Given the description of an element on the screen output the (x, y) to click on. 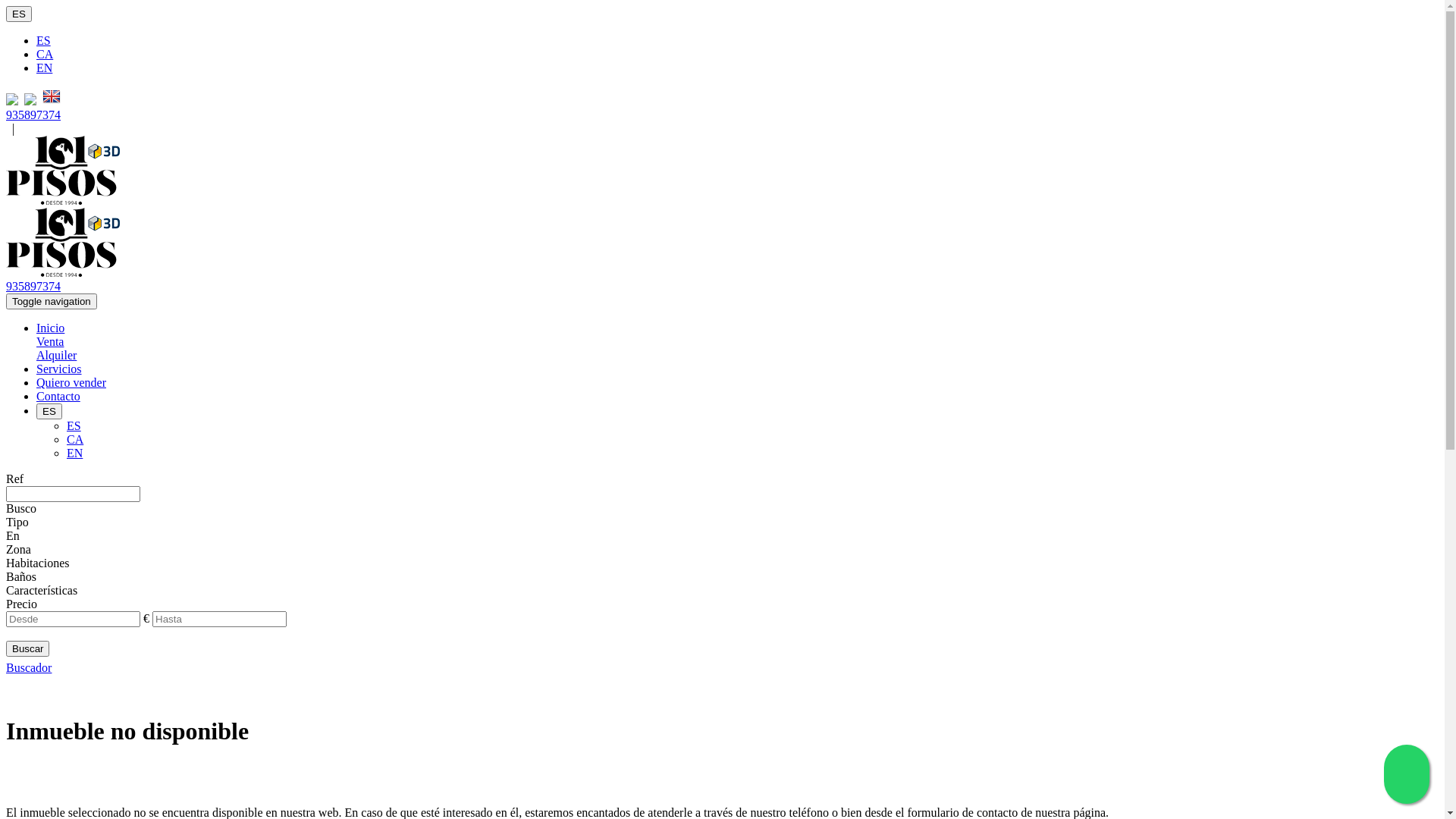
Alquiler Element type: text (56, 354)
Servicios Element type: text (58, 368)
EN Element type: text (44, 67)
Toggle navigation Element type: text (51, 301)
CA Element type: text (44, 53)
EN Element type: text (74, 452)
CA Element type: text (74, 439)
Buscador Element type: text (28, 667)
Buscar Element type: text (27, 648)
935897374 Element type: text (33, 114)
ES Element type: text (18, 13)
Venta Element type: text (49, 341)
ES Element type: text (43, 40)
ES Element type: text (73, 425)
Quiero vender Element type: text (71, 382)
Contacto Element type: text (58, 395)
ES Element type: text (49, 411)
Inicio Element type: text (50, 327)
935897374 Element type: text (33, 285)
